Given the description of an element on the screen output the (x, y) to click on. 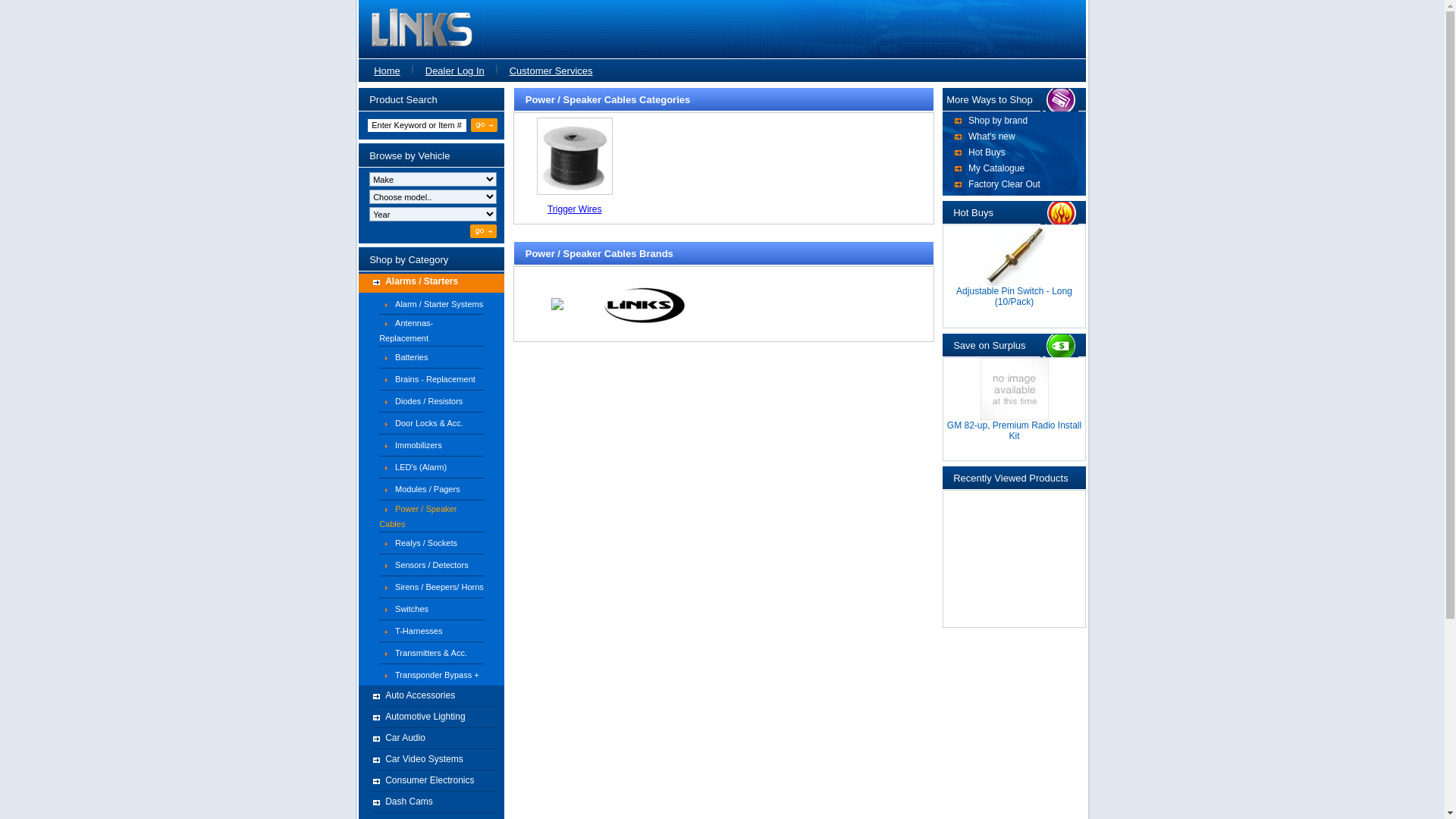
Factory Clear Out Element type: text (1004, 183)
What's new Element type: text (991, 135)
Realys / Sockets Element type: text (426, 542)
Shop by brand Element type: text (997, 119)
Dealer Log In Element type: text (454, 70)
Car Audio Element type: text (430, 739)
Sirens / Beepers/ Horns Element type: text (439, 586)
Automotive Lighting Element type: text (430, 718)
 Enter Keyword or Item # Element type: text (417, 125)
Diodes / Resistors Element type: text (428, 400)
Auto Accessories Element type: text (430, 696)
Car Video Systems Element type: text (430, 760)
Door Locks & Acc. Element type: text (429, 422)
LED's (Alarm) Element type: text (420, 466)
Hot Buys Element type: text (986, 151)
Transmitters & Acc. Element type: text (431, 652)
Brains - Replacement Element type: text (435, 378)
Consumer Electronics Element type: text (430, 781)
Transponder Bypass + Element type: text (437, 674)
My Catalogue Element type: text (996, 167)
Modules / Pagers Element type: text (427, 488)
Antennas- Replacement Element type: text (406, 330)
Home Element type: text (379, 70)
T-Harnesses Element type: text (418, 630)
Trigger Wires Element type: text (574, 208)
Customer Services Element type: text (551, 70)
Switches Element type: text (411, 608)
Batteries Element type: text (411, 356)
Dash Cams Element type: text (430, 802)
Immobilizers Element type: text (418, 444)
Sensors / Detectors Element type: text (431, 564)
Alarms / Starters Element type: text (431, 282)
Power / Speaker Cables Element type: text (417, 516)
Alarm / Starter Systems Element type: text (439, 302)
